Given the description of an element on the screen output the (x, y) to click on. 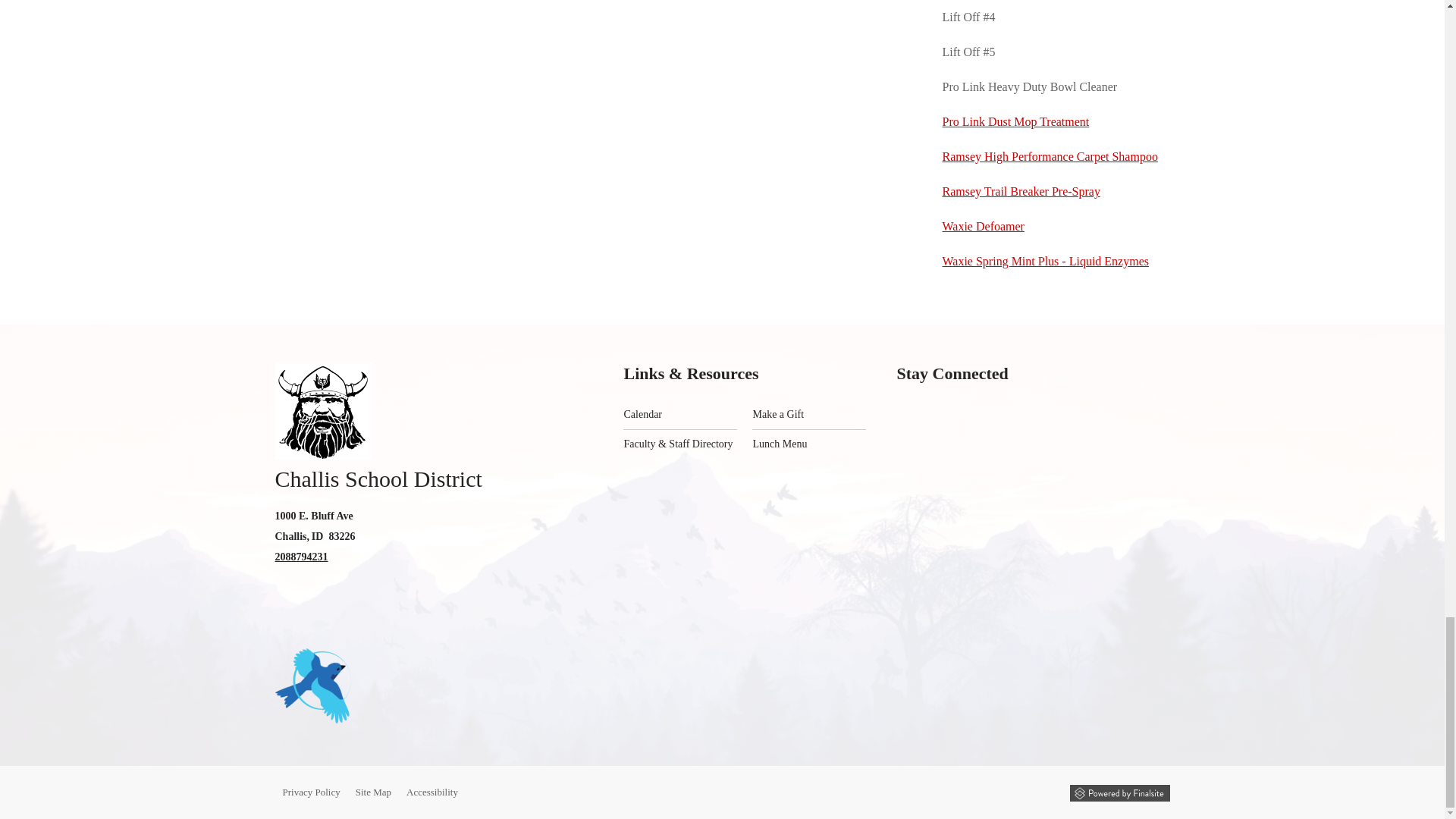
Powered by Finalsite opens in a new window (1118, 792)
